Given the description of an element on the screen output the (x, y) to click on. 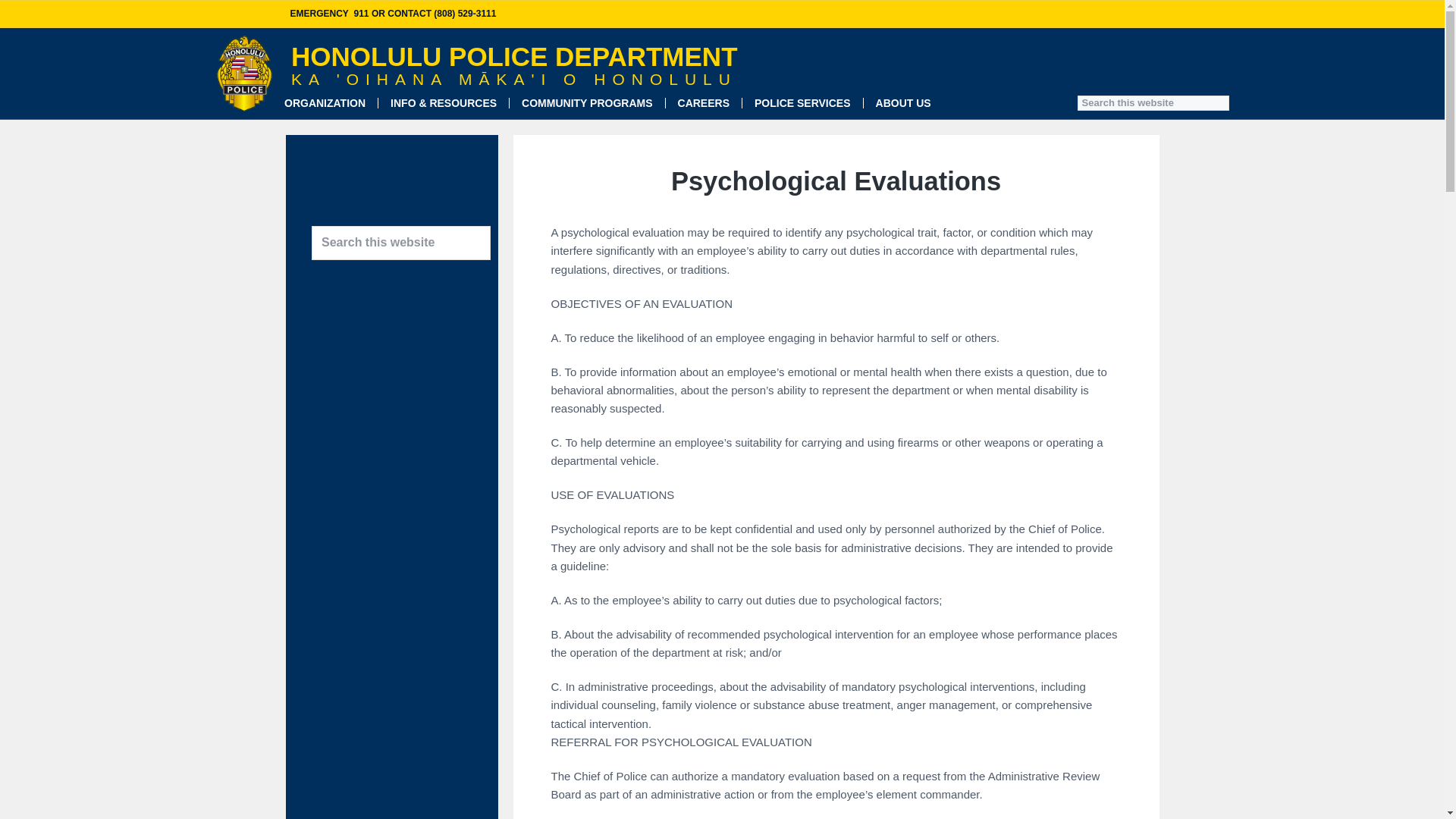
911 (361, 13)
ABOUT US (903, 103)
Search (60, 17)
POLICE SERVICES (802, 103)
COMMUNITY PROGRAMS (586, 103)
CAREERS (703, 103)
ORGANIZATION (324, 103)
